Given the description of an element on the screen output the (x, y) to click on. 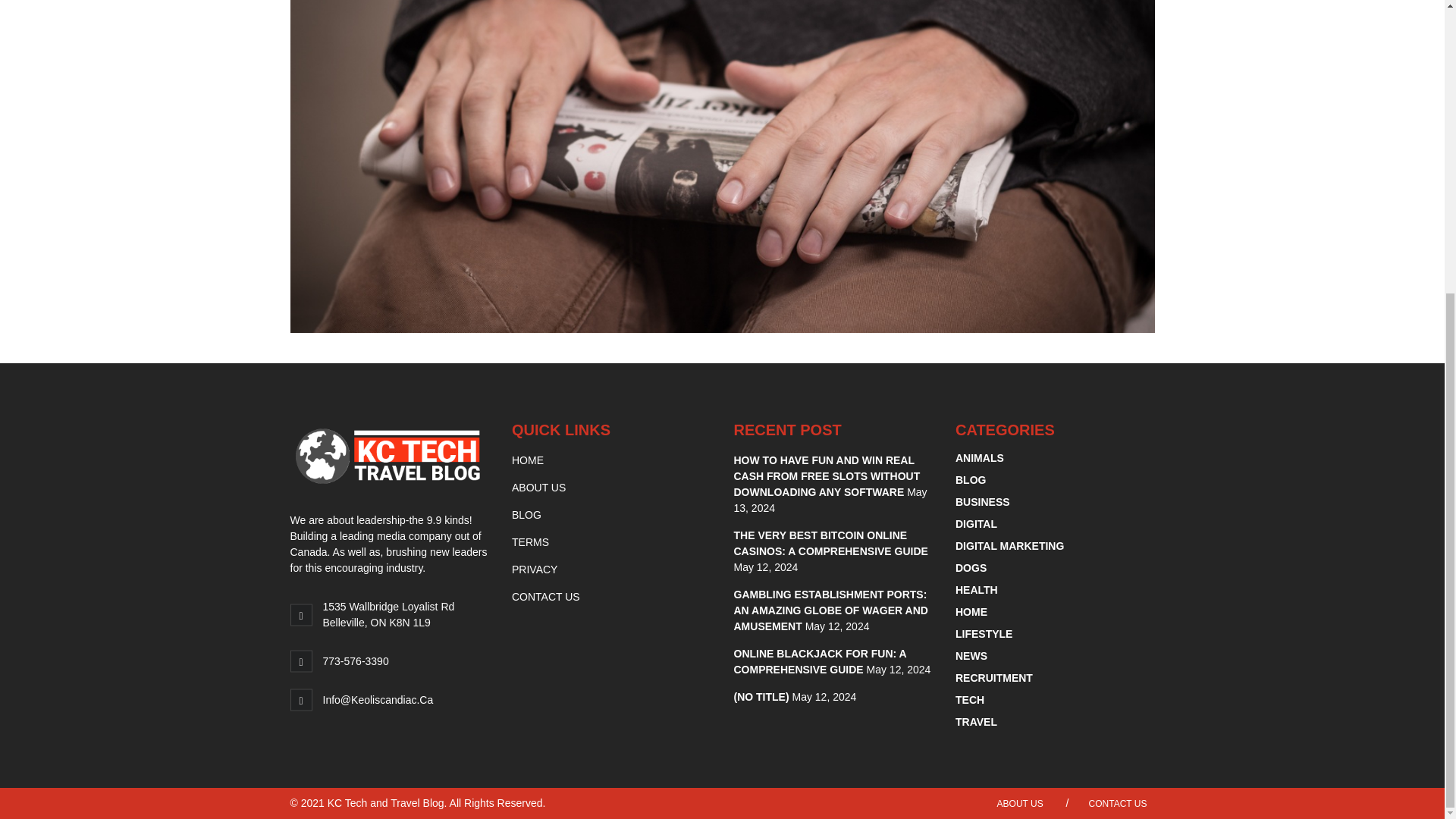
HOME (527, 460)
PRIVACY (534, 569)
CONTACT US (545, 596)
773-576-3390 (355, 661)
THE VERY BEST BITCOIN ONLINE CASINOS: A COMPREHENSIVE GUIDE (830, 543)
BLOG (526, 514)
1535 Wallbridge Loyalist Rd Belleville, ON K8N 1L9 (388, 614)
ABOUT US (539, 487)
TERMS (530, 541)
